Given the description of an element on the screen output the (x, y) to click on. 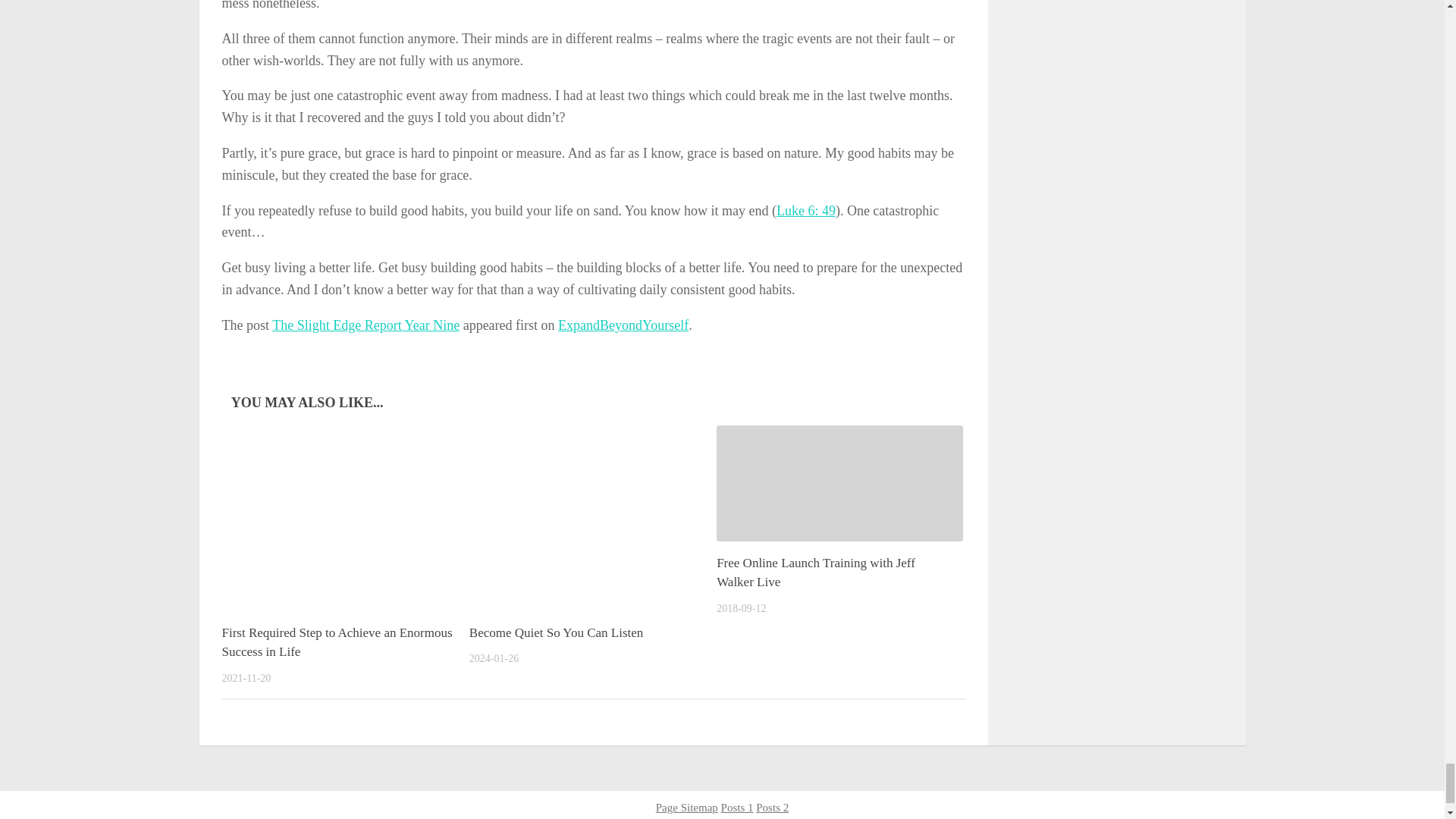
ExpandBeyondYourself (622, 324)
The Slight Edge Report Year Nine (366, 324)
Become Quiet So You Can Listen (555, 632)
First Required Step to Achieve an Enormous Success in Life (336, 642)
Free Online Launch Training with Jeff Walker Live (815, 572)
Luke 6: 49 (805, 210)
